Given the description of an element on the screen output the (x, y) to click on. 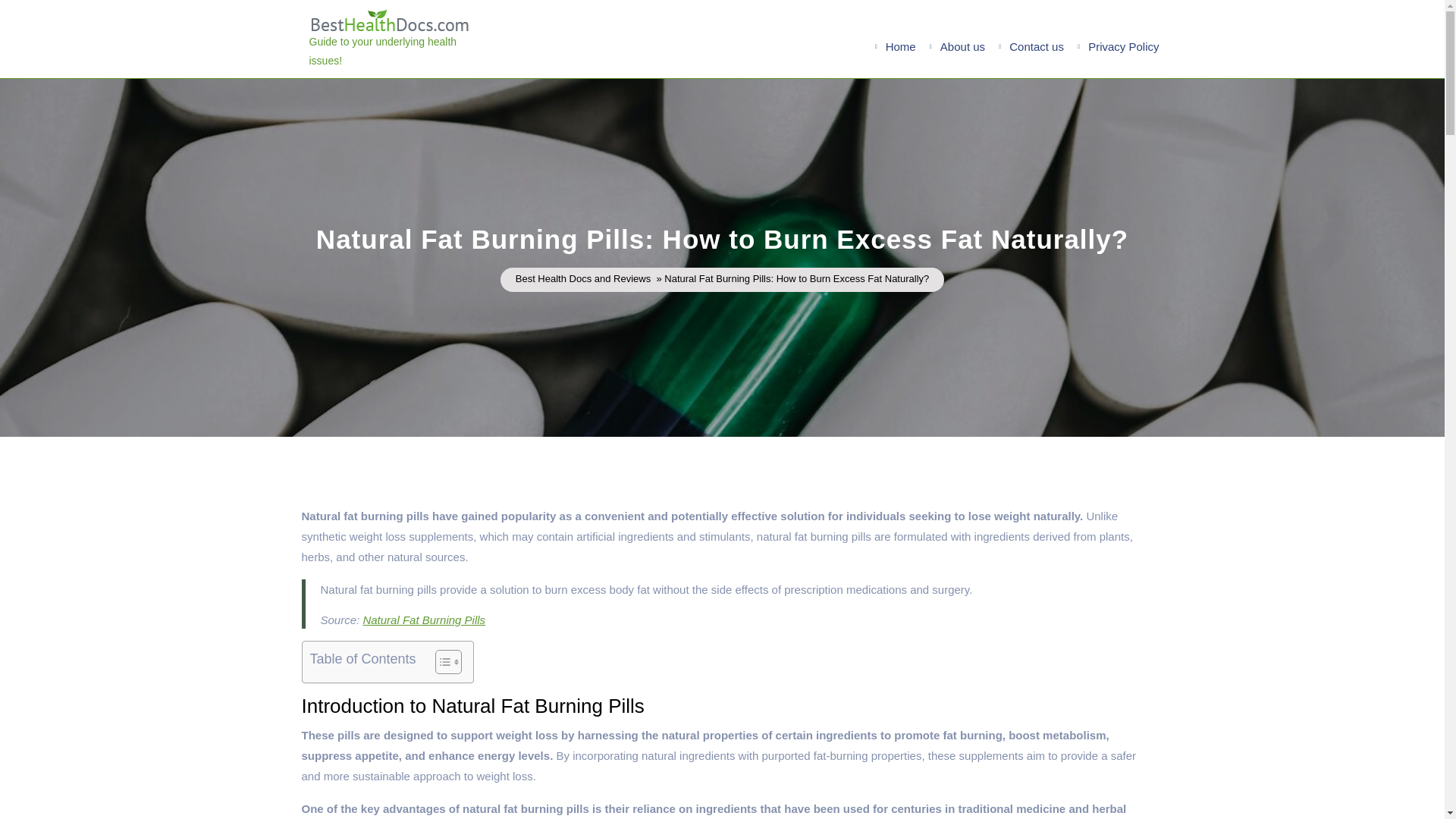
About us (962, 46)
Privacy Policy (1123, 46)
Contact us (1036, 46)
Best Health Docs and Reviews (582, 278)
Natural Fat Burning Pills (423, 619)
Home (900, 46)
